Given the description of an element on the screen output the (x, y) to click on. 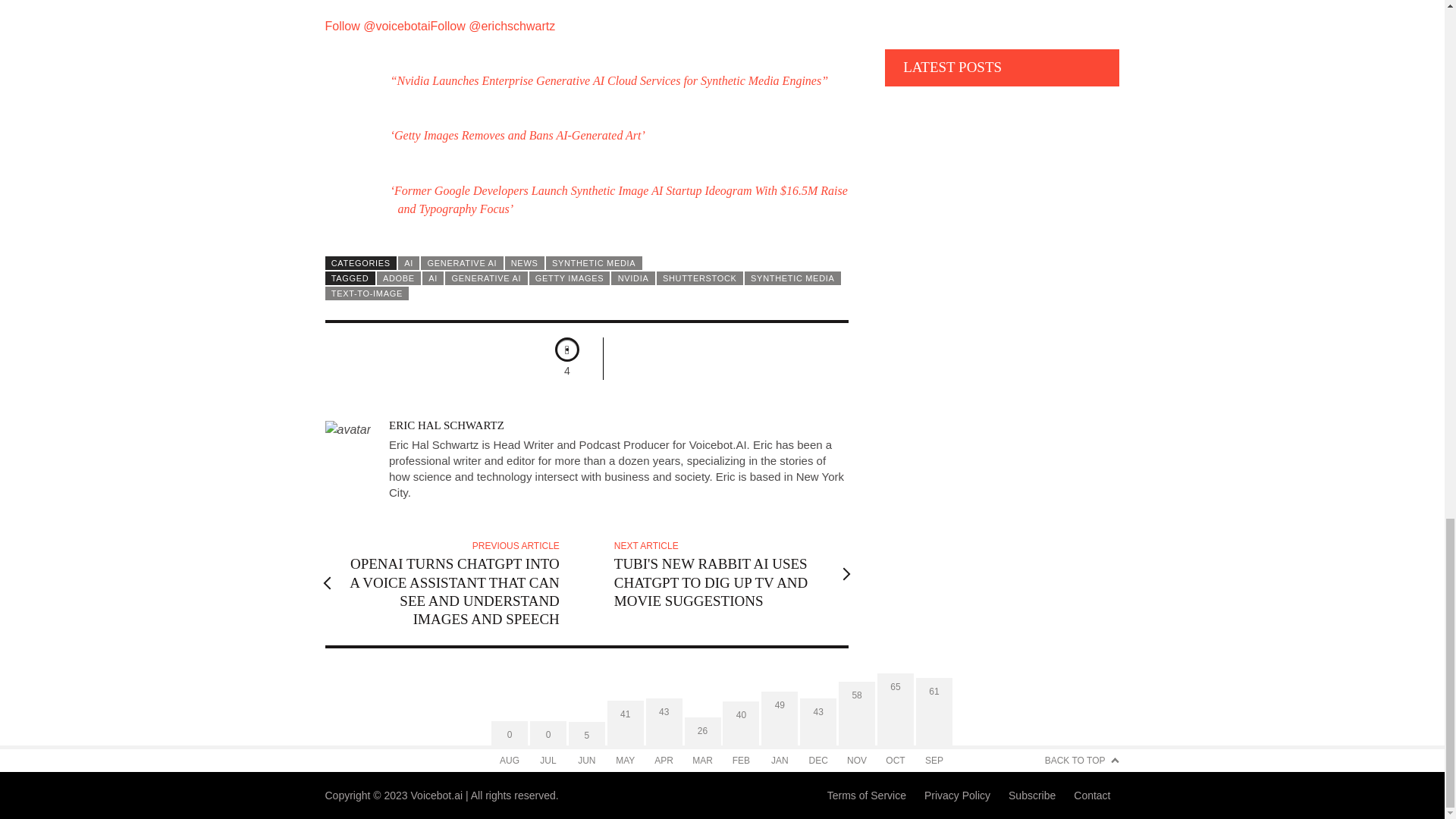
View all posts tagged Getty Images (569, 278)
View all posts tagged Synthetic Media (792, 278)
View all posts in Synthetic Media (594, 263)
View all posts in AI (408, 263)
View all posts tagged Generative AI (486, 278)
View all posts tagged Adobe (398, 278)
View all posts tagged AI (433, 278)
View all posts in News (524, 263)
View all posts tagged Shutterstock (699, 278)
View all posts tagged nvidia (632, 278)
